Given the description of an element on the screen output the (x, y) to click on. 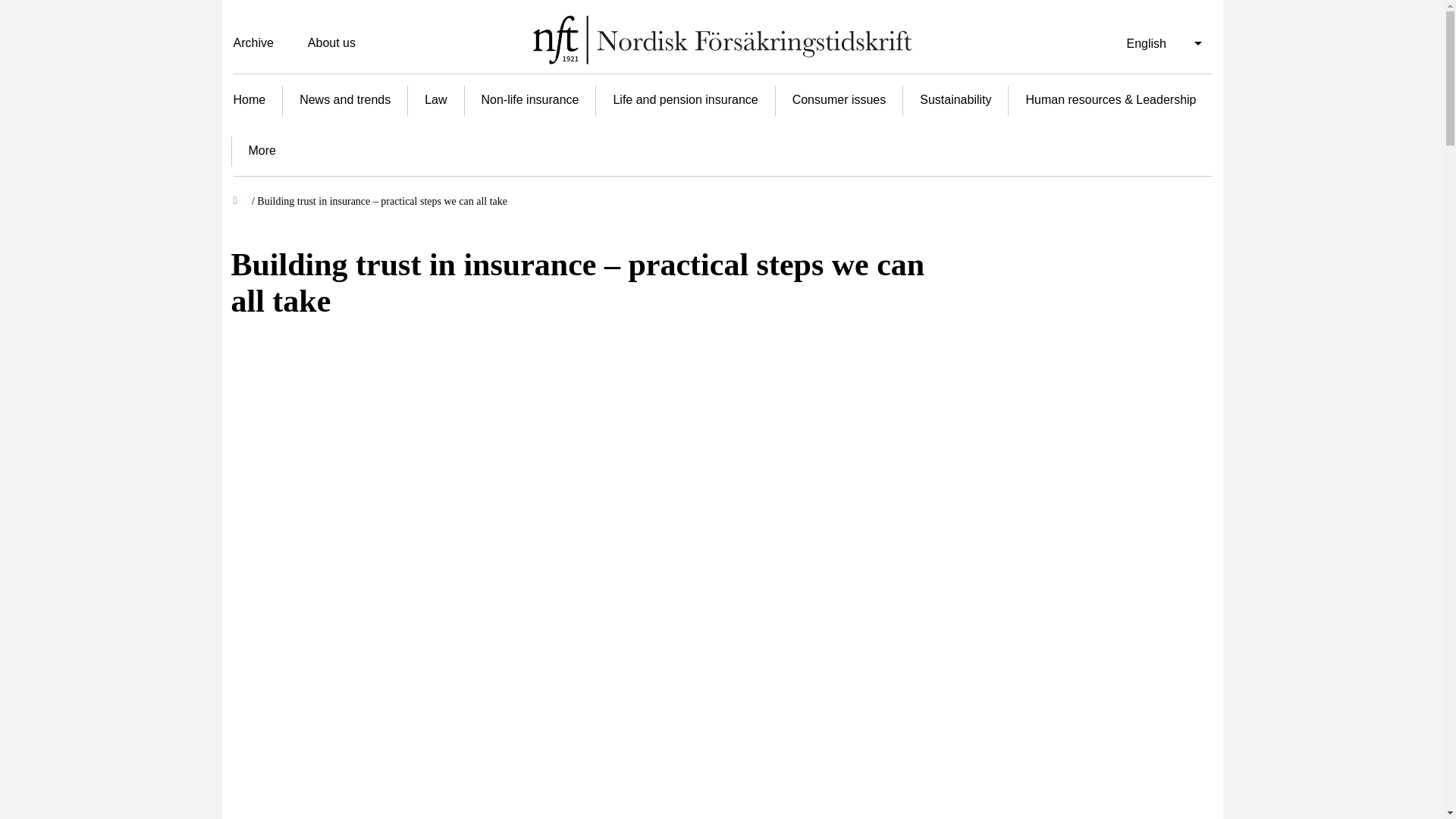
Sustainability (955, 99)
Archive (260, 42)
About us (331, 42)
Non-life insurance (529, 99)
Life and pension insurance (684, 99)
Law (435, 99)
Consumer issues (839, 99)
Home (256, 99)
News and trends (344, 99)
